Given the description of an element on the screen output the (x, y) to click on. 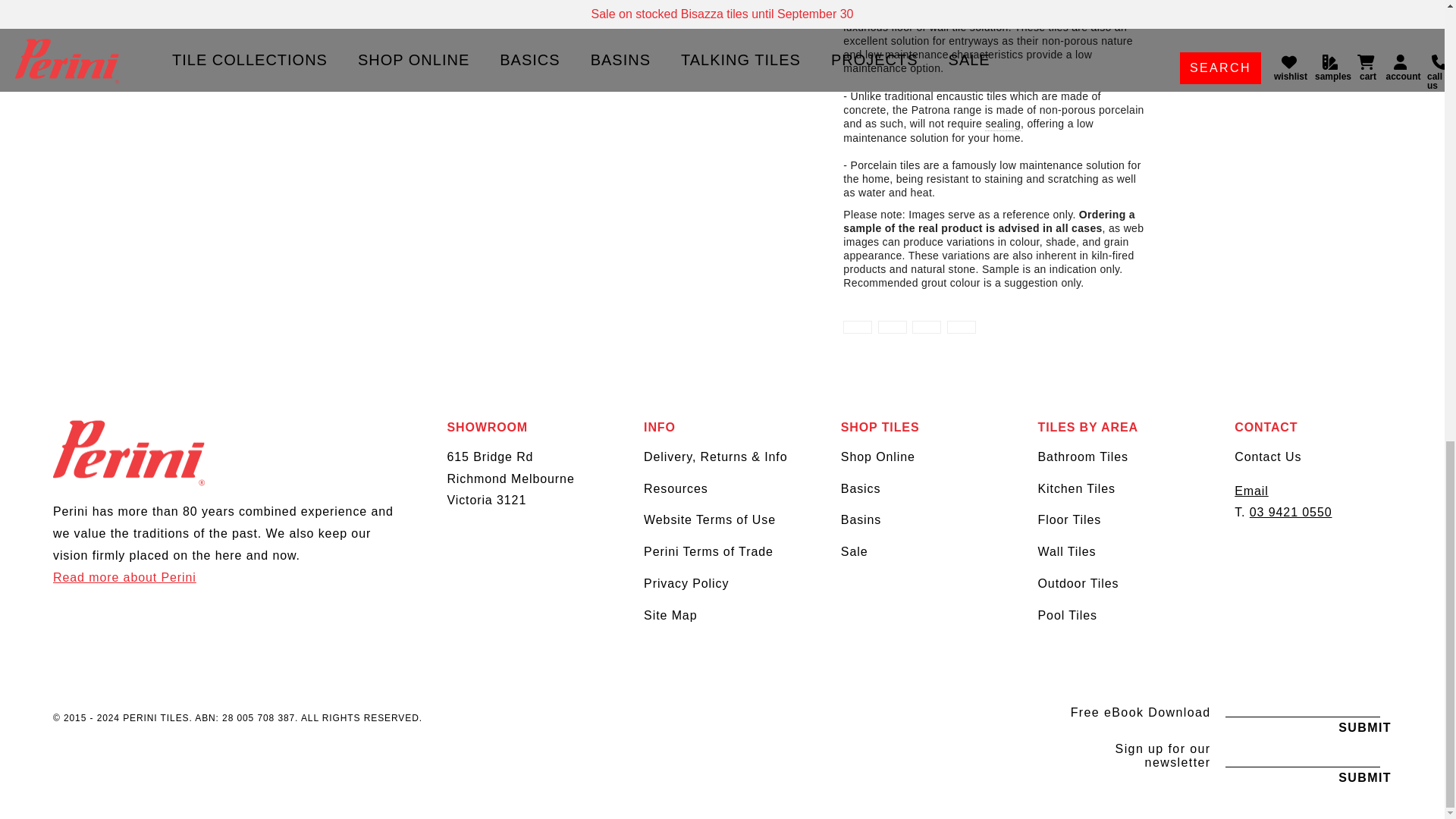
Privacy Policy (686, 583)
Share on Pinterest (926, 327)
Resources (675, 488)
Share on Twitter (892, 327)
Read more about Perini (124, 576)
Website Terms of Use (709, 519)
Share via Email (961, 327)
Perini Terms of Trade (708, 551)
Share on Facebook (857, 327)
